Given the description of an element on the screen output the (x, y) to click on. 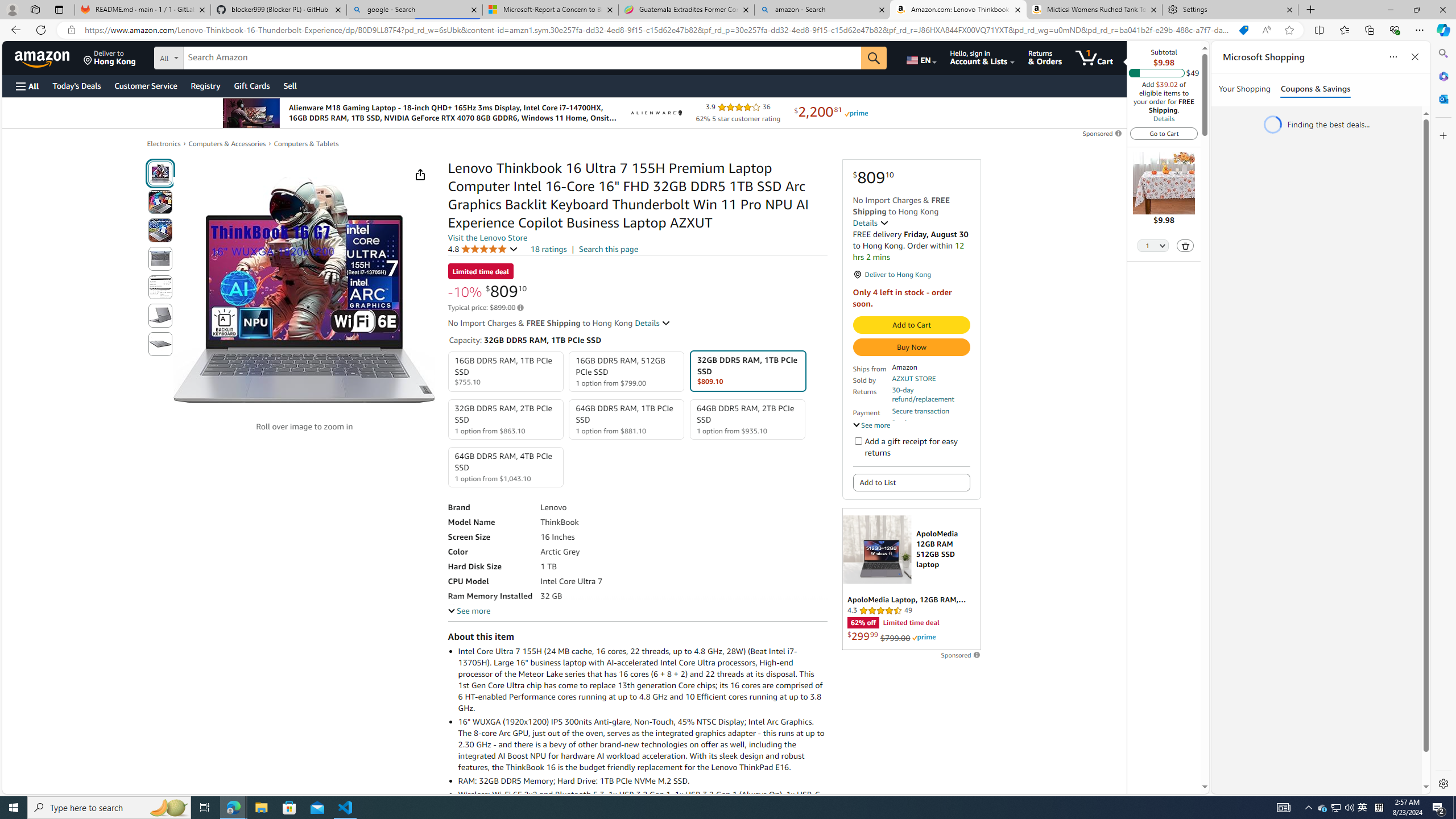
amazon - Search (822, 9)
Computers & Accessories (226, 143)
Delete (1185, 245)
Add to Cart (911, 324)
Computers & Tablets (306, 144)
16GB DDR5 RAM, 512GB PCIe SSD 1 option from $799.00 (626, 371)
Computers & Tablets (306, 143)
64GB DDR5 RAM, 2TB PCIe SSD 1 option from $935.10 (747, 418)
Product support included (930, 427)
Hello, sign in Account & Lists (982, 57)
